Given the description of an element on the screen output the (x, y) to click on. 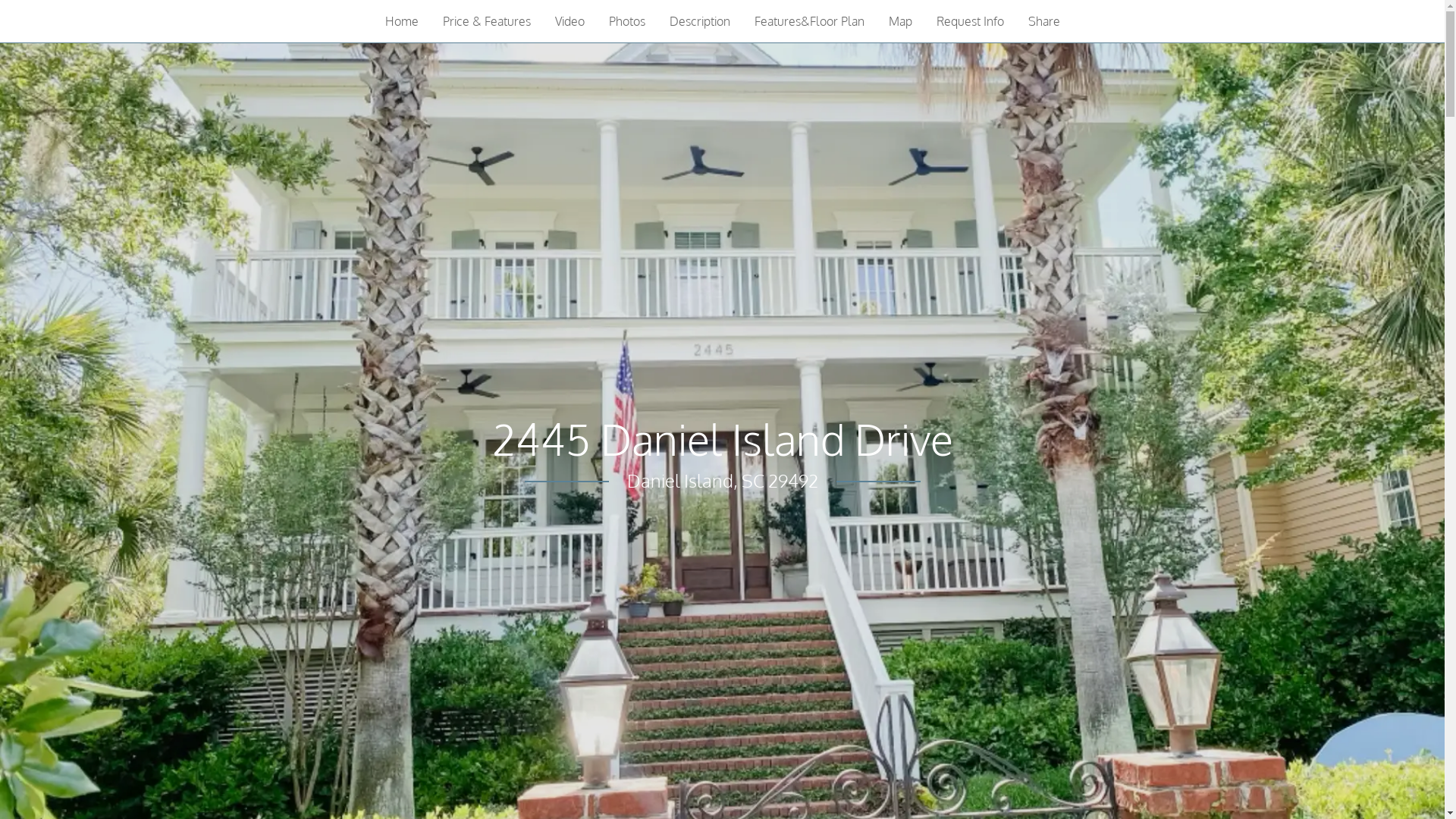
Photos Element type: text (626, 21)
Home Element type: text (401, 21)
Request Info Element type: text (969, 21)
Features&Floor Plan Element type: text (808, 21)
Map Element type: text (900, 21)
Share Element type: text (1044, 21)
Description Element type: text (698, 21)
Video Element type: text (569, 21)
Price & Features Element type: text (486, 21)
